Given the description of an element on the screen output the (x, y) to click on. 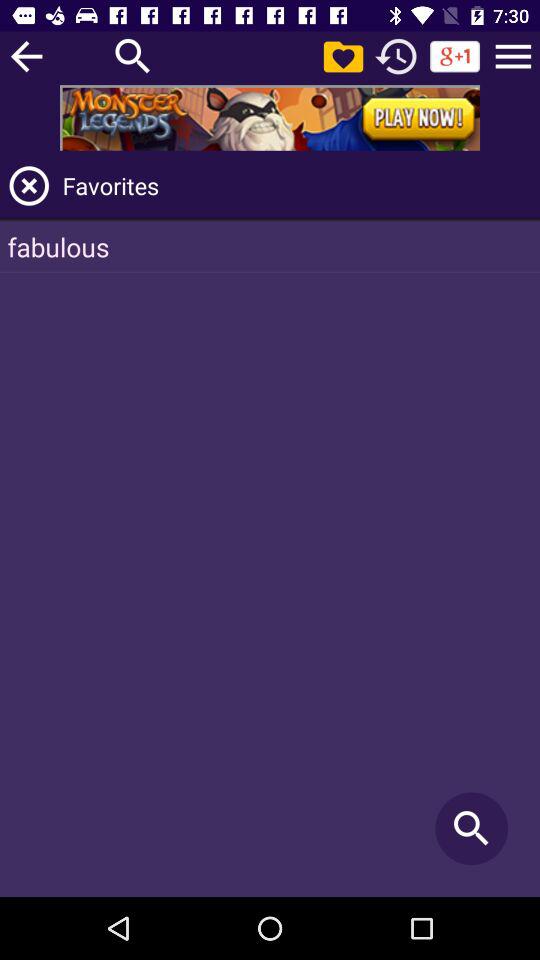
refresh (396, 56)
